Given the description of an element on the screen output the (x, y) to click on. 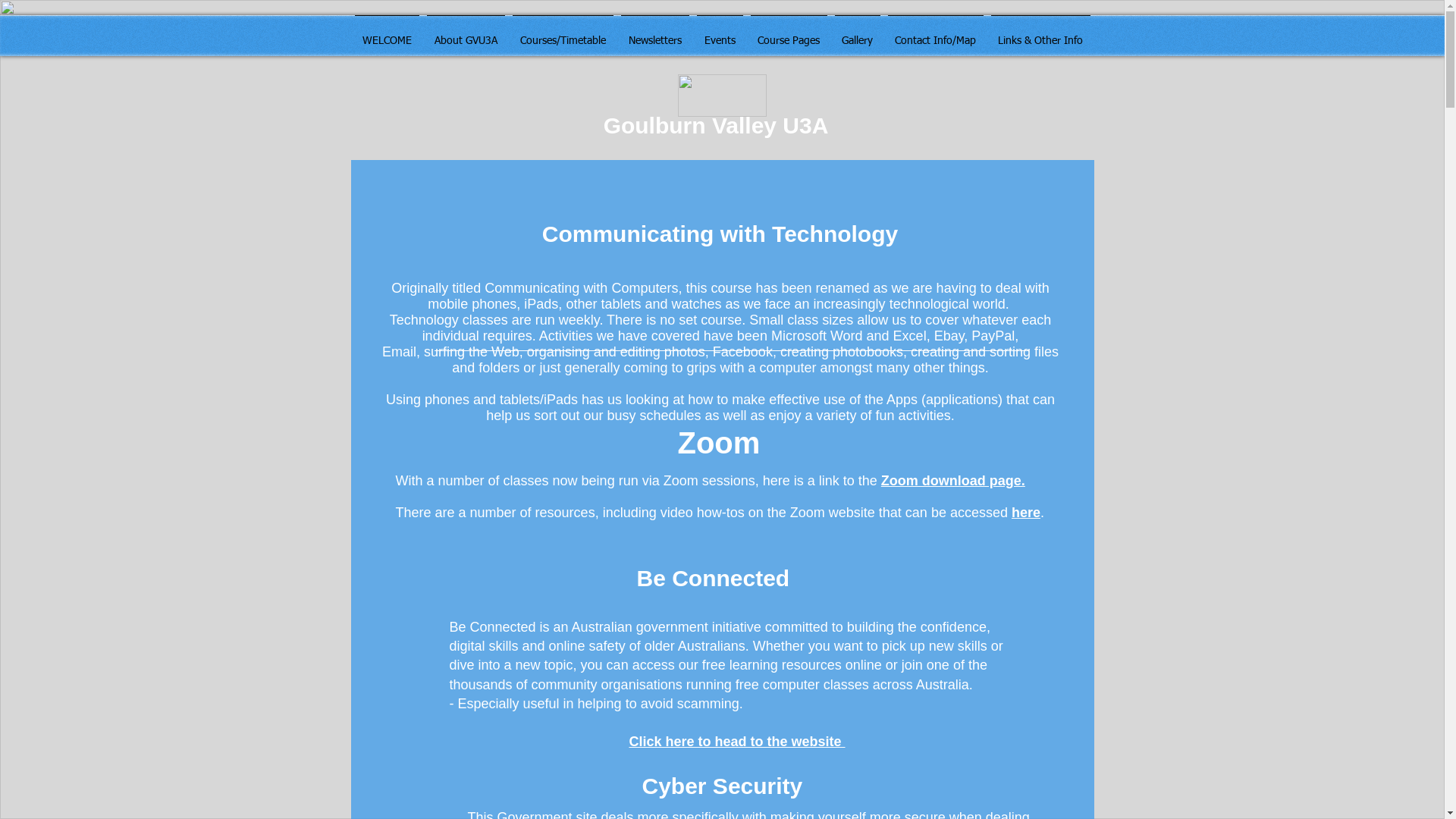
here Element type: text (1025, 512)
Contact Info/Map Element type: text (935, 34)
Click here to head to the website  Element type: text (736, 741)
. Element type: text (1042, 512)
Courses/Timetable Element type: text (562, 34)
Zoom download page. Element type: text (953, 480)
U3ALogo_800X600.gif Element type: hover (721, 95)
WELCOME Element type: text (386, 34)
Gallery Element type: text (857, 34)
